Given the description of an element on the screen output the (x, y) to click on. 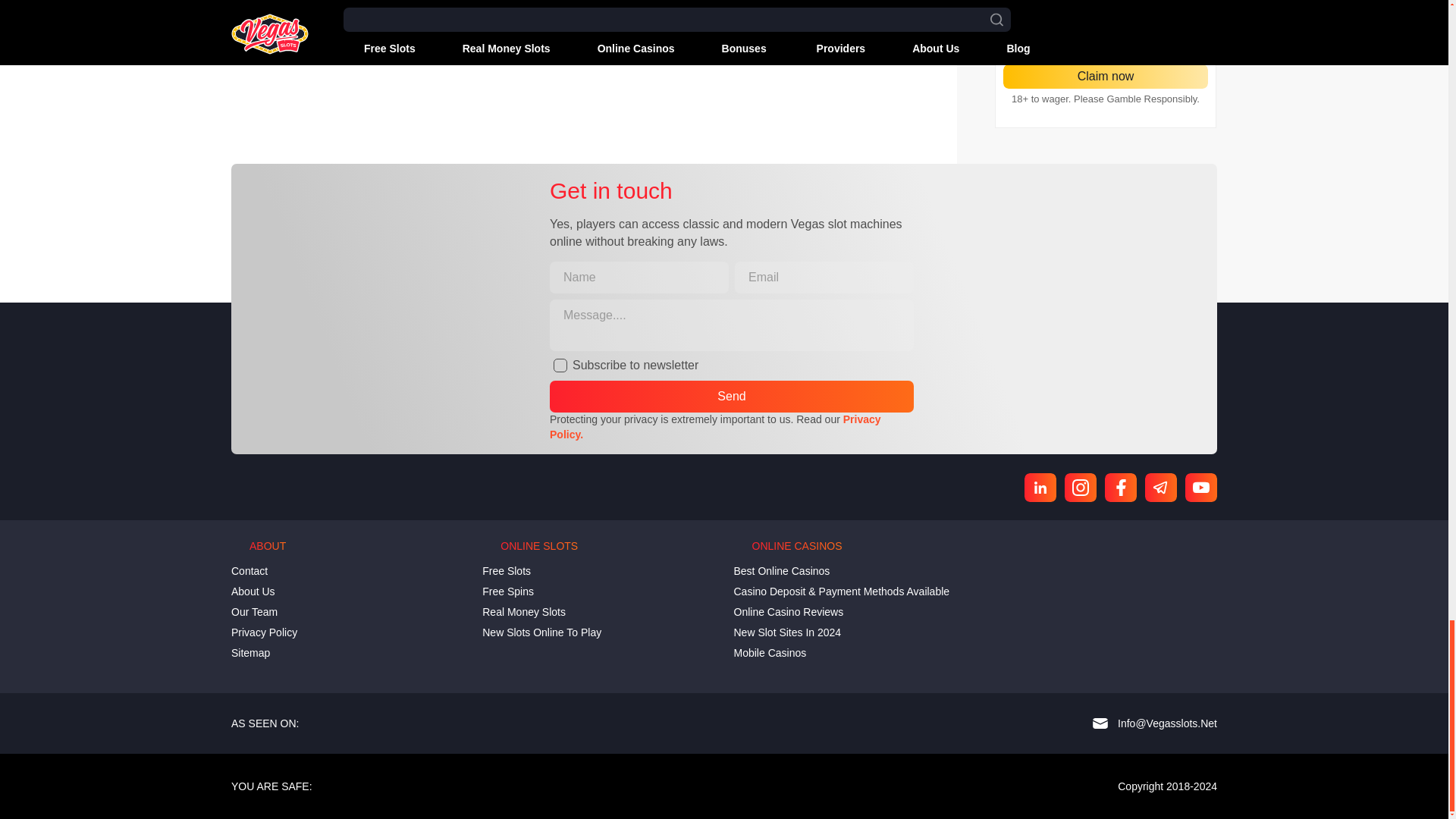
Send (732, 396)
